Given the description of an element on the screen output the (x, y) to click on. 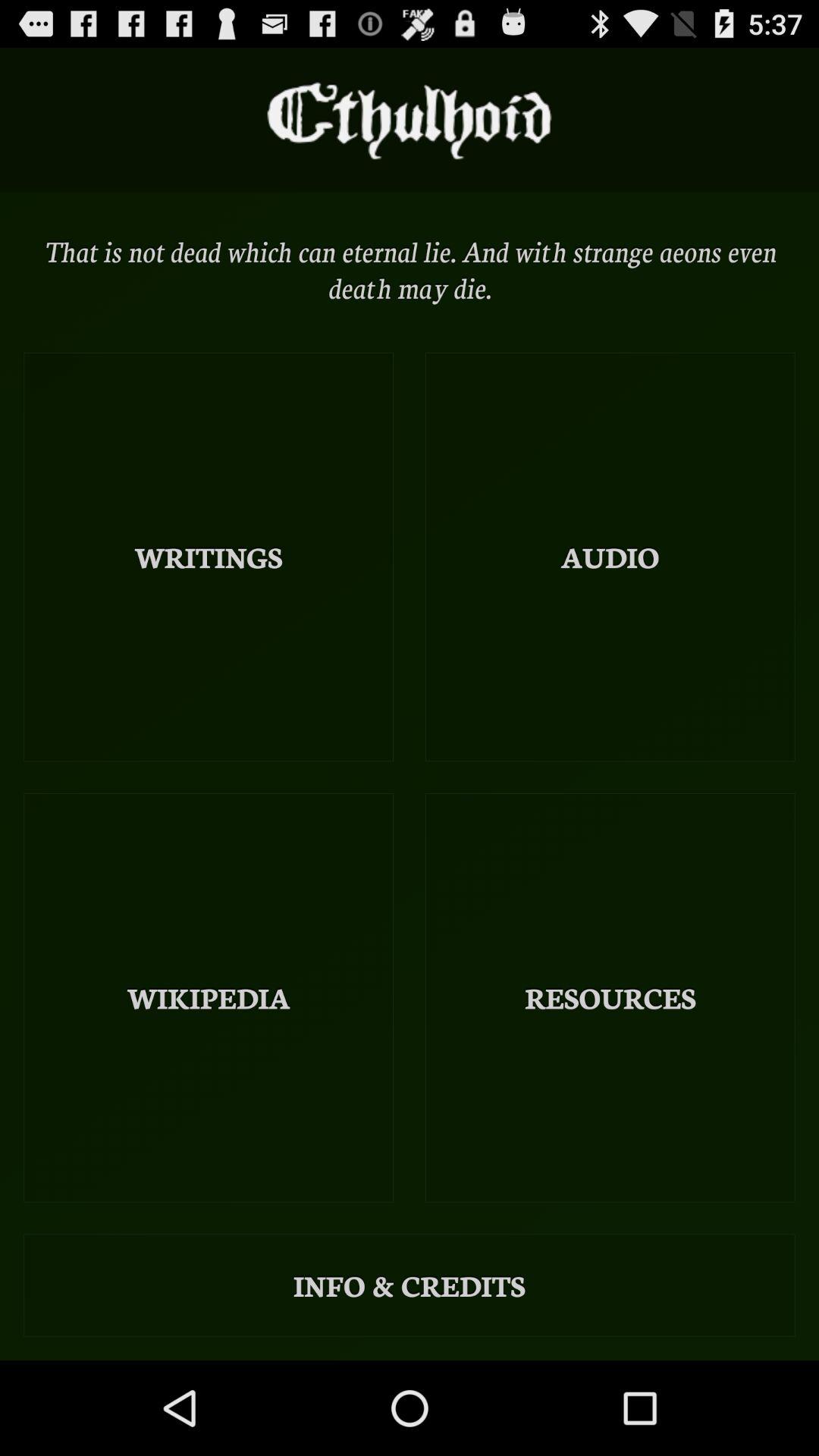
click icon below the that is not icon (610, 556)
